Given the description of an element on the screen output the (x, y) to click on. 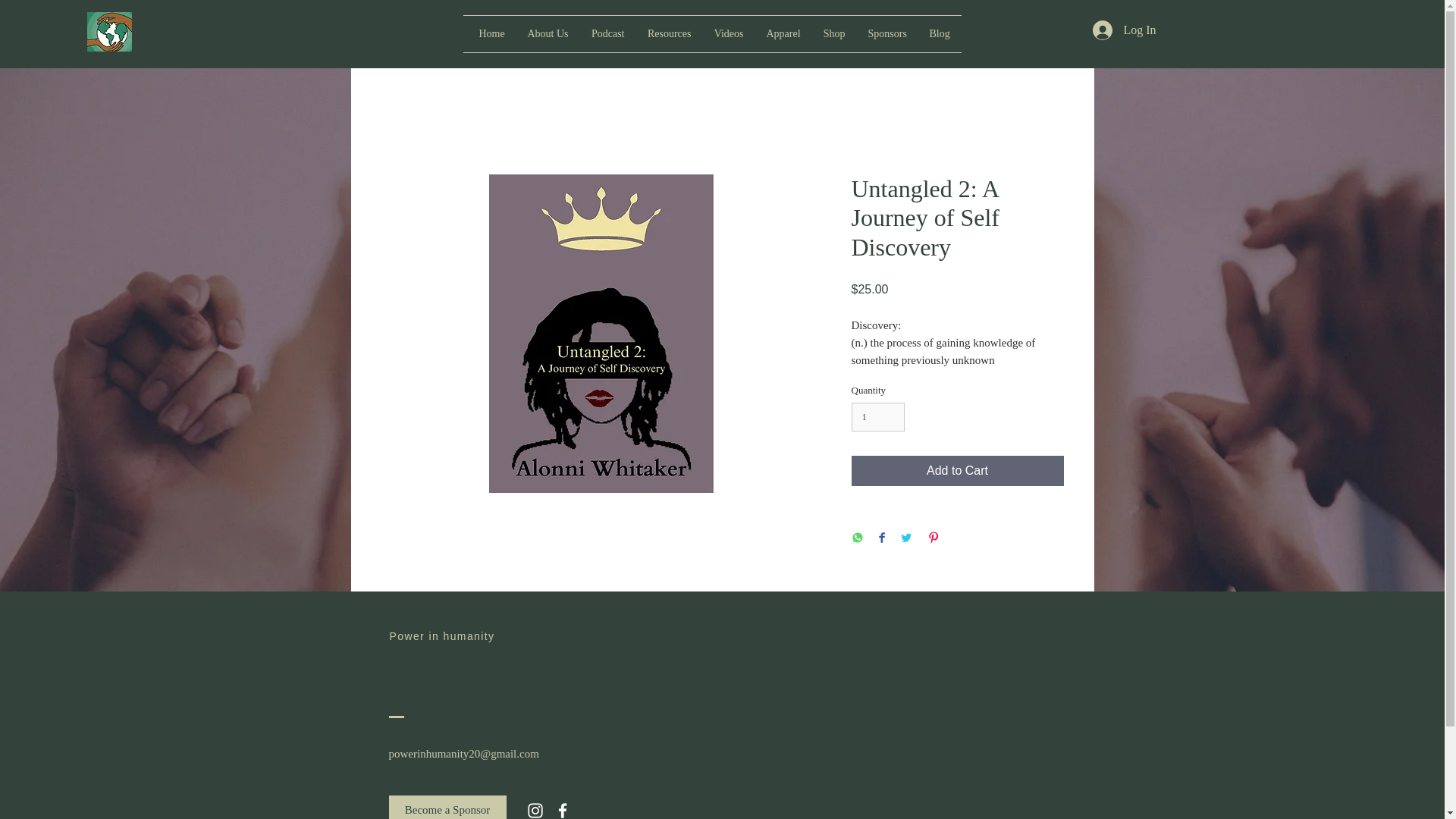
Apparel (783, 33)
1 (877, 416)
Home (491, 33)
Add to Cart (956, 470)
About Us (547, 33)
Videos (727, 33)
Shop (833, 33)
Log In (1123, 30)
Sponsors (887, 33)
Resources (667, 33)
Podcast (606, 33)
Blog (938, 33)
Become a Sponsor (446, 807)
